Given the description of an element on the screen output the (x, y) to click on. 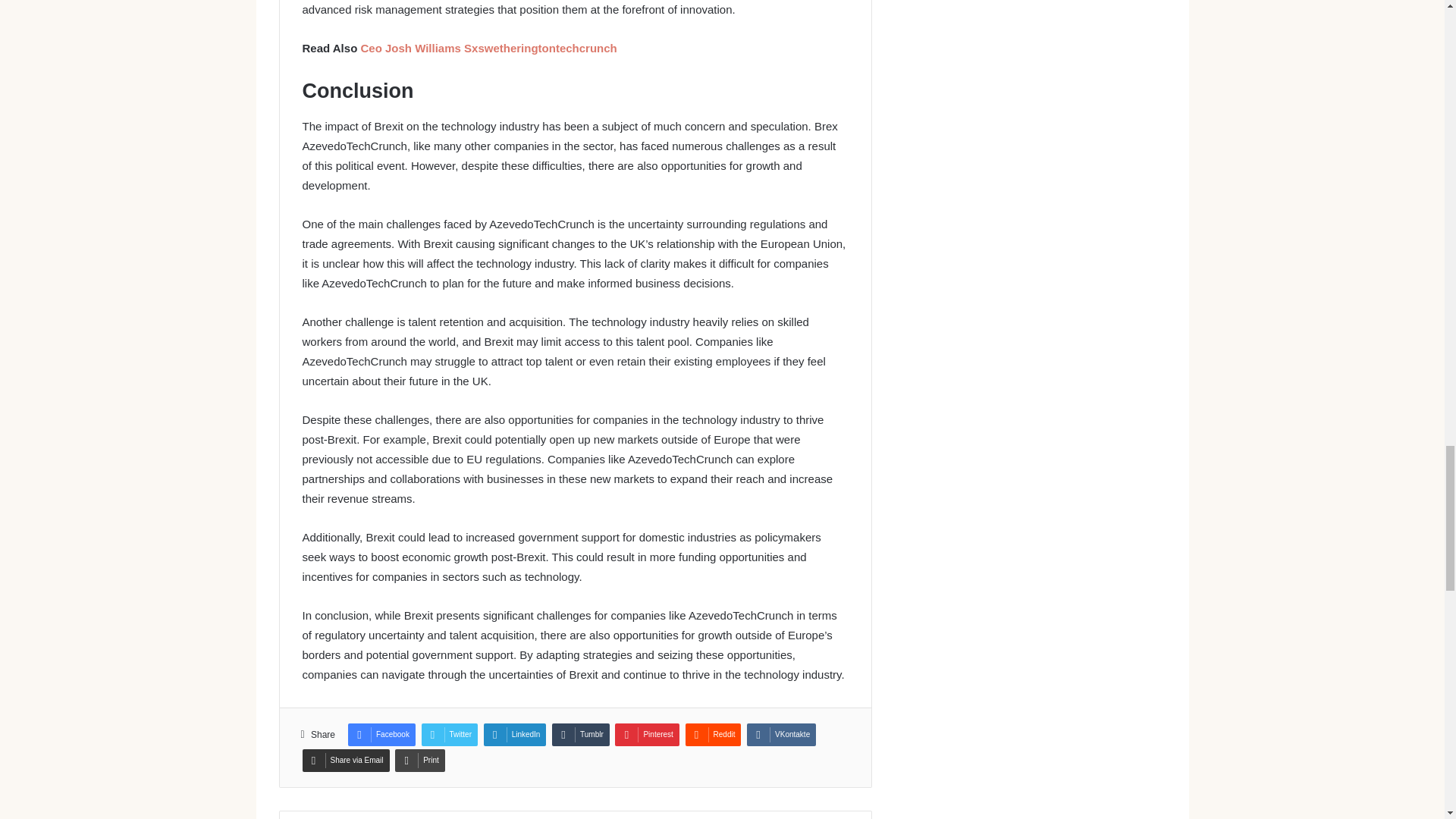
Facebook (380, 734)
VKontakte (780, 734)
LinkedIn (515, 734)
Twitter (449, 734)
Facebook (380, 734)
Tumblr (580, 734)
Print (419, 760)
LinkedIn (515, 734)
Share via Email (344, 760)
Ceo Josh Williams Sxswetheringtontechcrunch (487, 47)
